Given the description of an element on the screen output the (x, y) to click on. 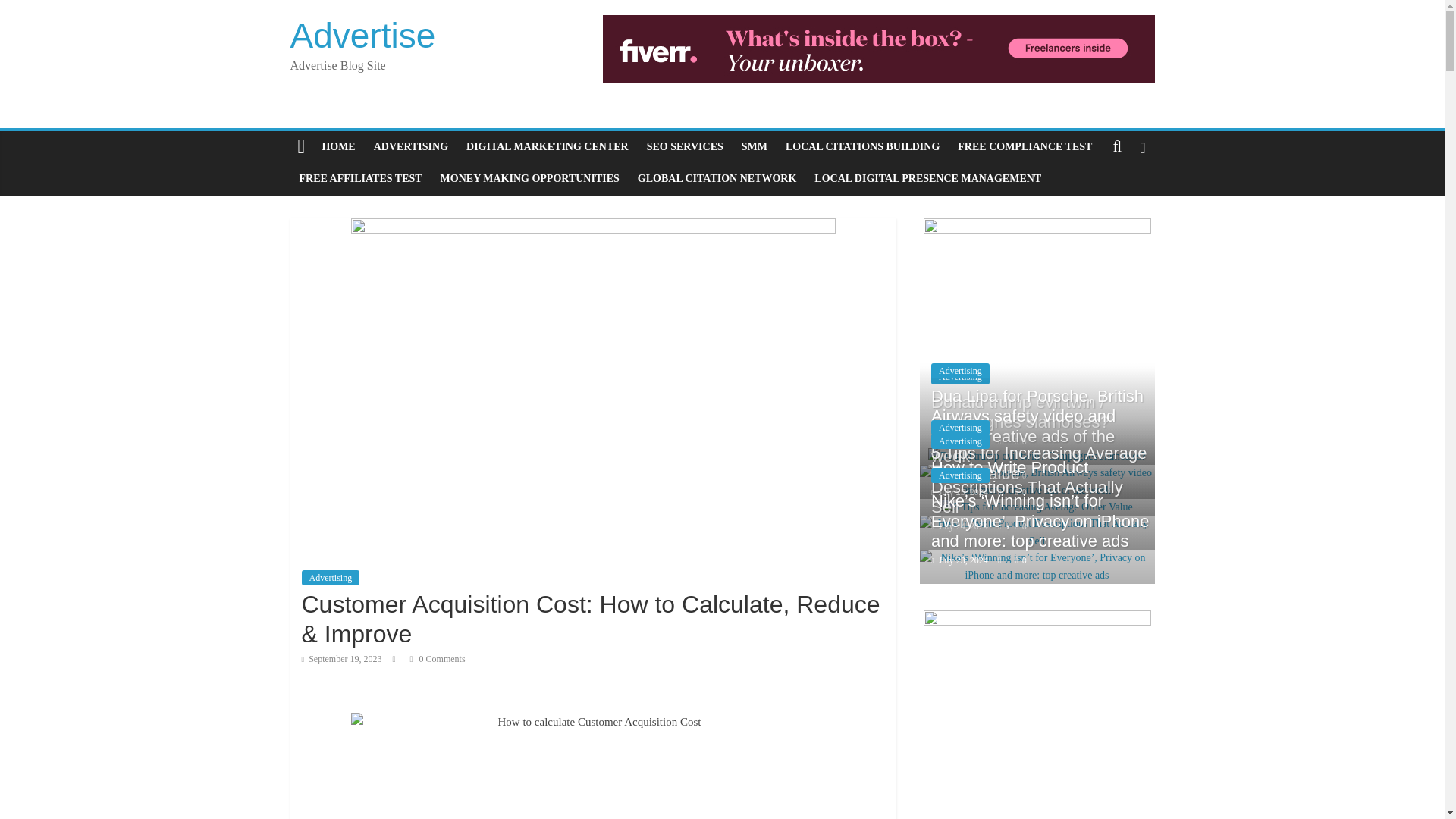
0 Comments (437, 658)
ADVERTISING (411, 146)
GLOBAL CITATION NETWORK (717, 178)
3:01 pm (959, 440)
5:50 pm (341, 658)
SMM (754, 146)
September 19, 2023 (341, 658)
FREE COMPLIANCE TEST (1024, 146)
LOCAL CITATIONS BUILDING (862, 146)
Advertise (362, 35)
Advertising (960, 376)
DIGITAL MARKETING CENTER (547, 146)
SEO SERVICES (684, 146)
Advertising (330, 577)
